Given the description of an element on the screen output the (x, y) to click on. 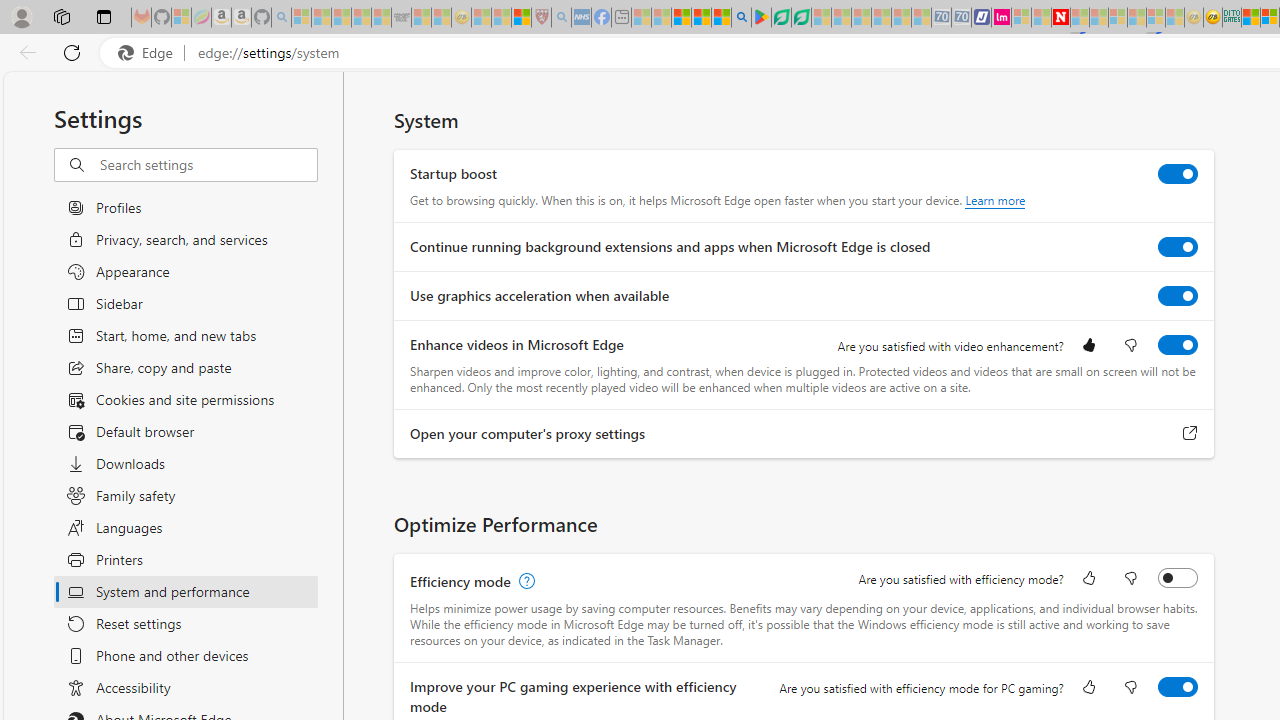
Pets - MSN (701, 17)
Learn more (995, 200)
Like (1089, 688)
Jobs - lastminute.com Investor Portal (1001, 17)
Edge (150, 53)
Enhance videos in Microsoft Edge (1178, 344)
